Given the description of an element on the screen output the (x, y) to click on. 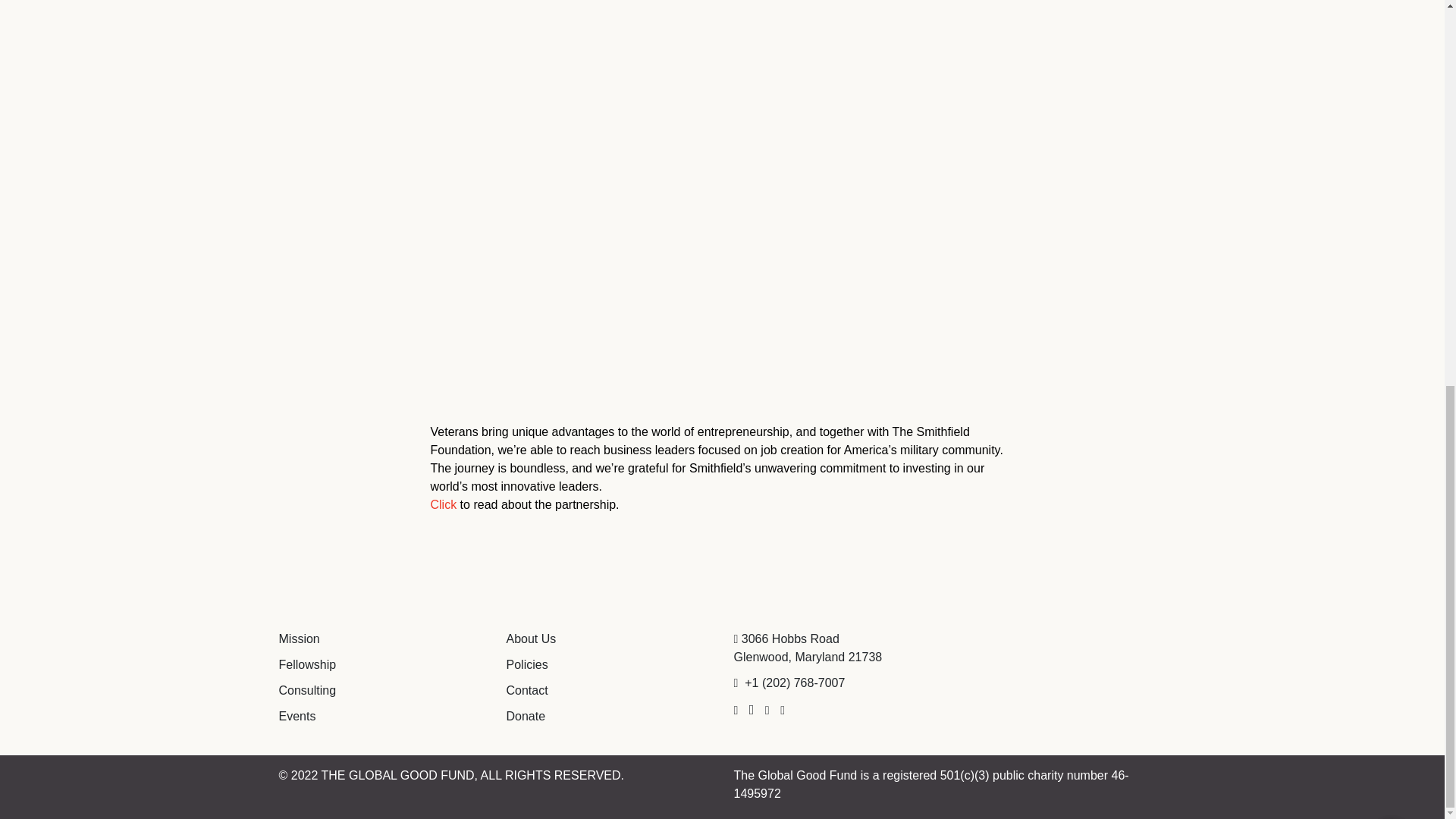
Consulting (307, 689)
About Us (531, 638)
Click (443, 504)
Contact (527, 689)
Fellowship (307, 664)
Policies (527, 664)
Mission (299, 638)
Events (297, 716)
